Given the description of an element on the screen output the (x, y) to click on. 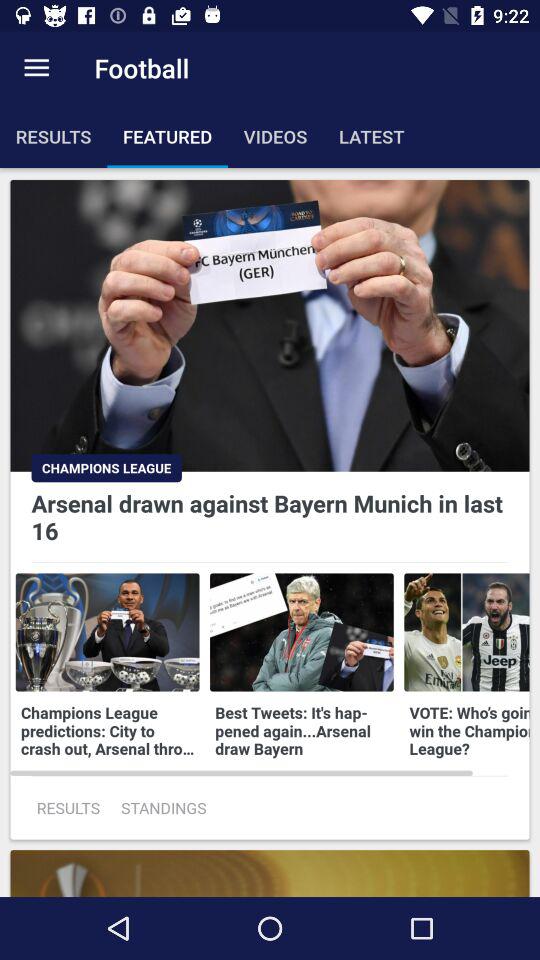
select the icon above results item (36, 68)
